Given the description of an element on the screen output the (x, y) to click on. 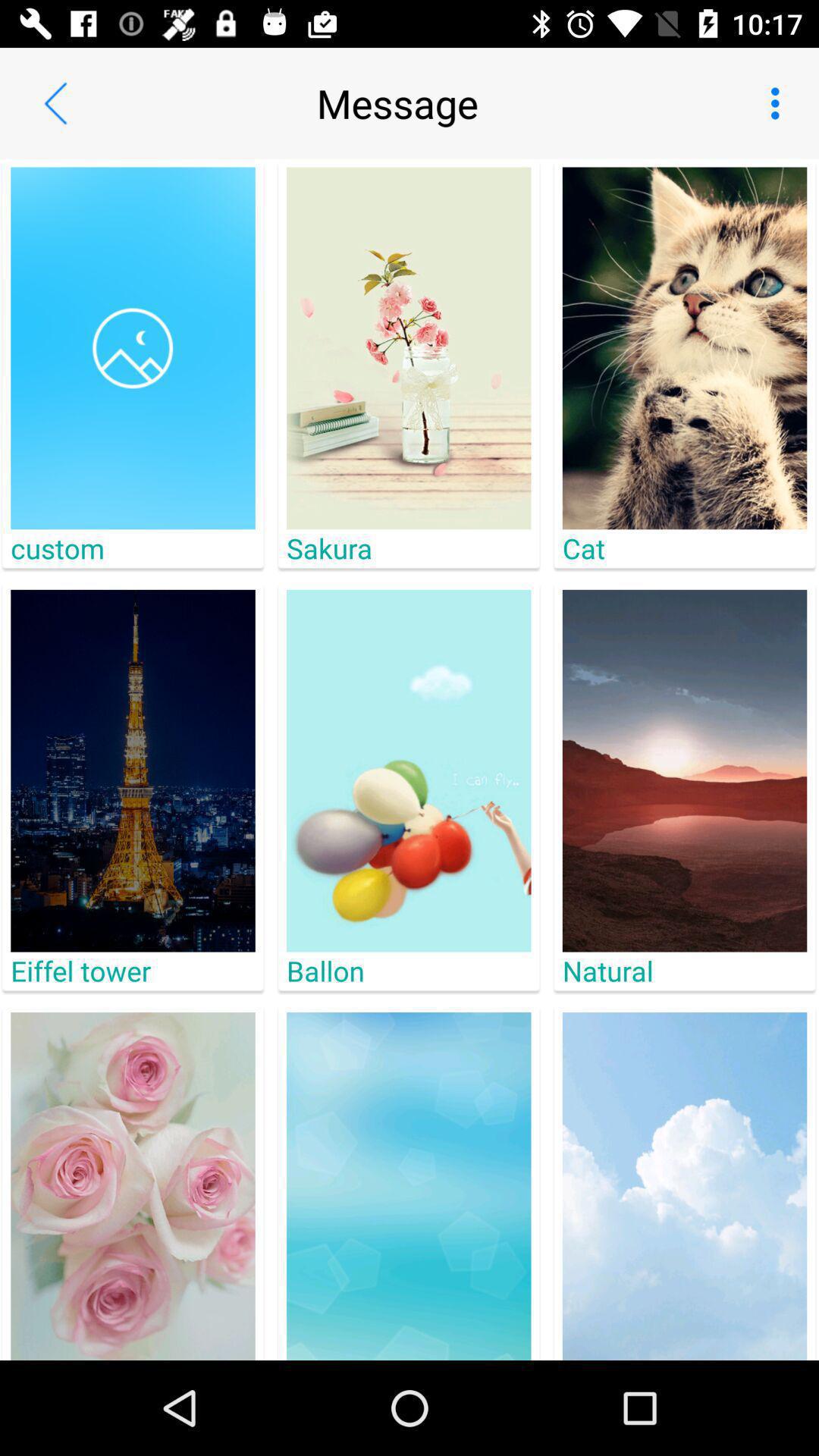
turn on item next to the message (55, 103)
